Given the description of an element on the screen output the (x, y) to click on. 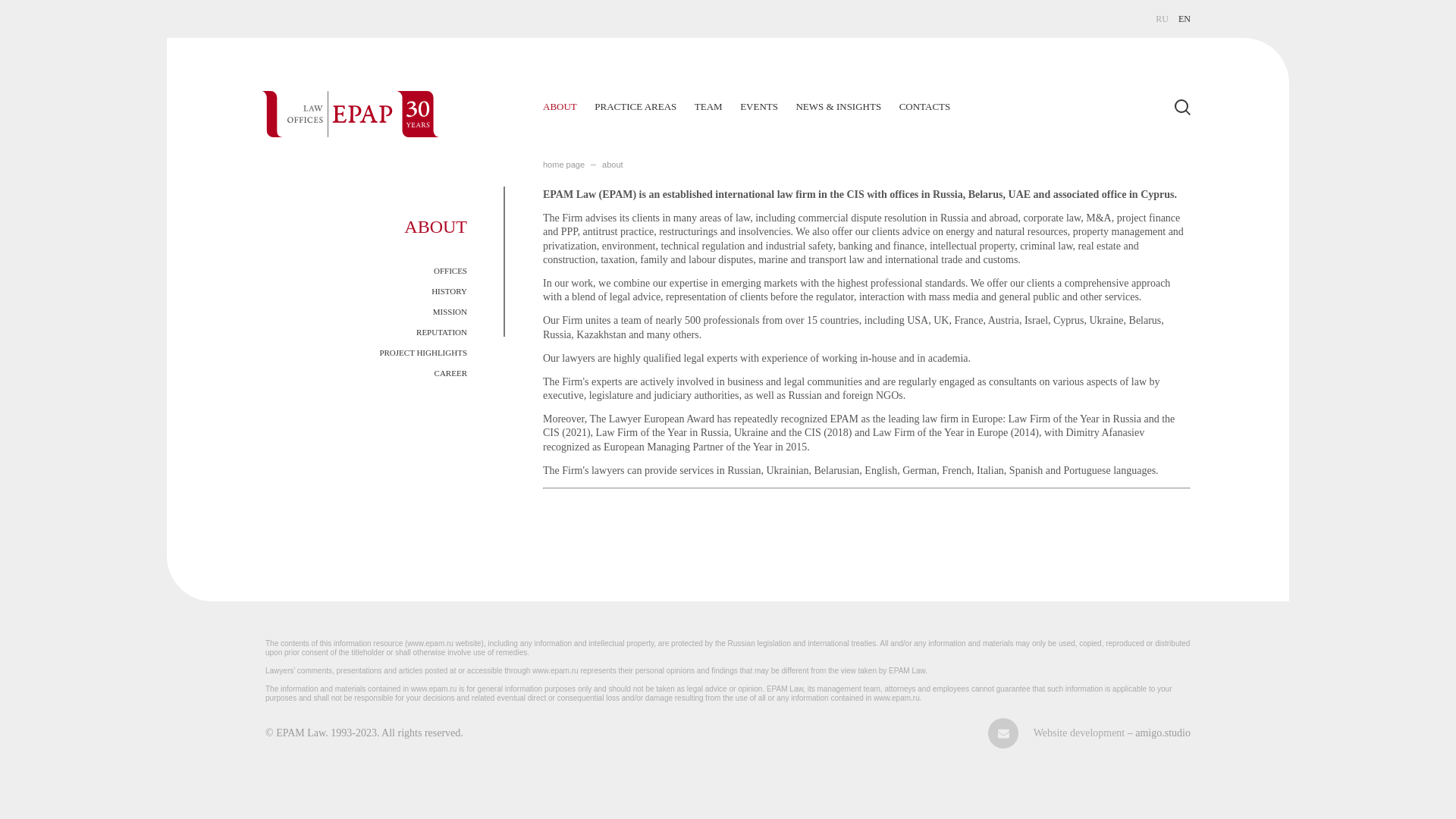
ABOUT Element type: text (559, 106)
home page Element type: text (563, 164)
CONTACTS Element type: text (924, 106)
OFFICES Element type: text (450, 270)
RU Element type: text (1161, 18)
PRACTICE AREAS Element type: text (635, 106)
EVENTS Element type: text (759, 106)
about Element type: text (612, 164)
TEAM Element type: text (708, 106)
MISSION Element type: text (450, 311)
CAREER Element type: text (450, 372)
PROJECT HIGHLIGHTS Element type: text (423, 352)
Website development Element type: text (1080, 732)
NEWS & INSIGHTS Element type: text (838, 106)
HISTORY Element type: text (449, 290)
REPUTATION Element type: text (441, 331)
